Given the description of an element on the screen output the (x, y) to click on. 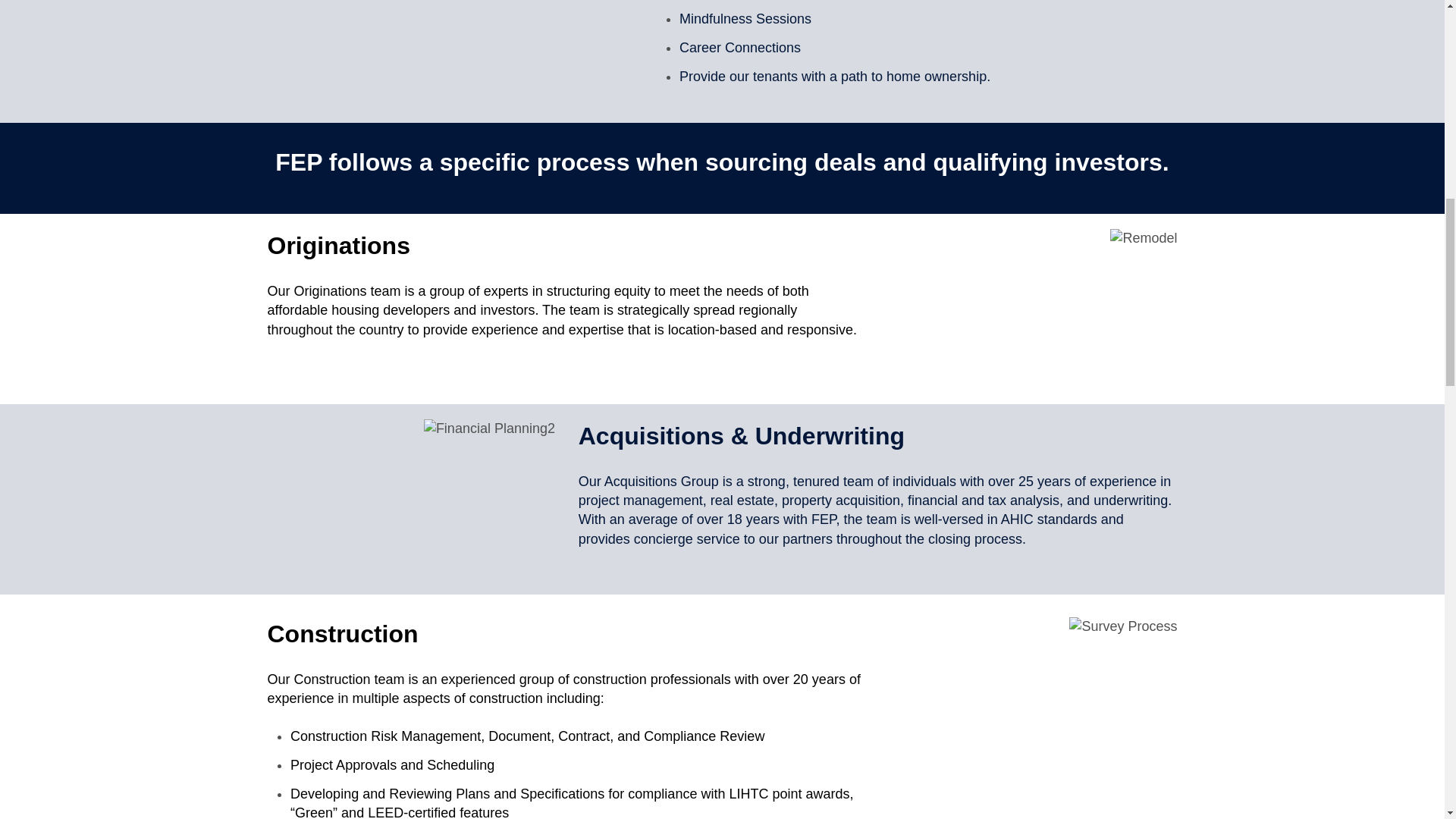
Survey Process (1122, 626)
Remodel (1142, 238)
Financial Planning2 (488, 428)
